Given the description of an element on the screen output the (x, y) to click on. 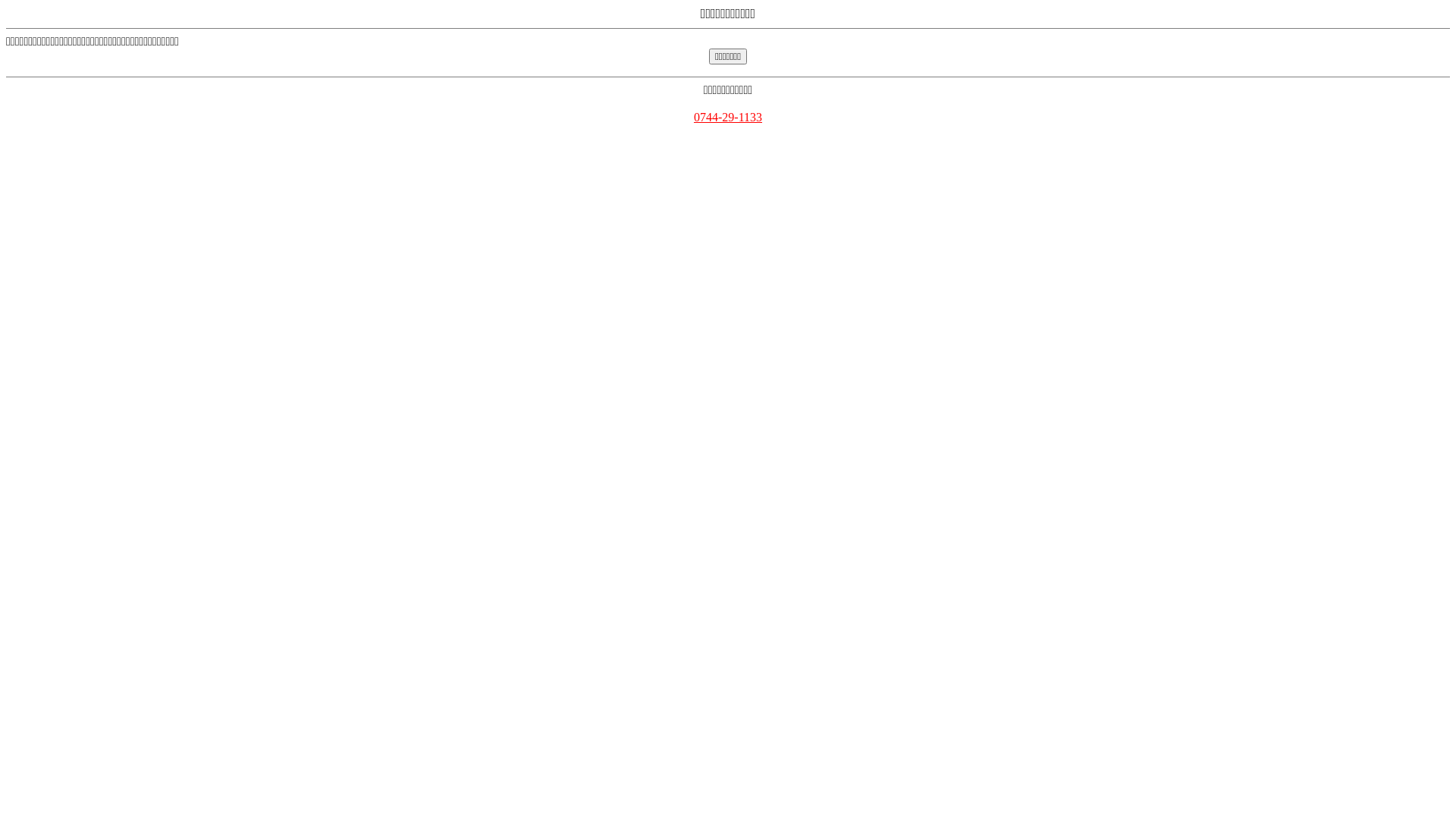
0744-29-1133 Element type: text (727, 116)
